Given the description of an element on the screen output the (x, y) to click on. 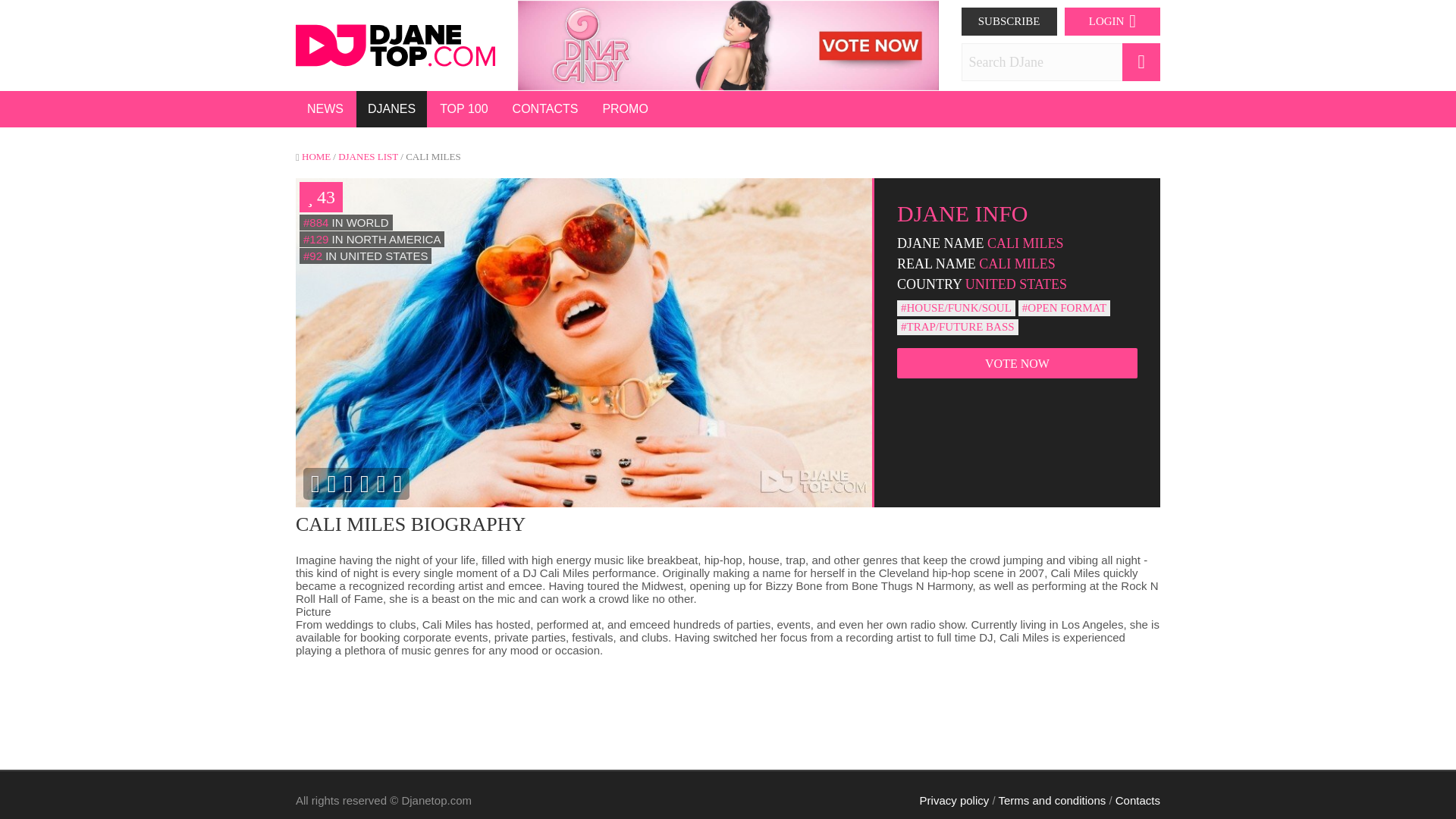
NEWS (325, 108)
Login (1112, 21)
PROMO (625, 108)
LOGIN (1112, 21)
TOP 100 (463, 108)
News (325, 108)
Login (1008, 21)
Vote NOW ENA (307, 45)
SUBSCRIBE (1008, 21)
DjaneTop (395, 43)
HOME (315, 156)
DJANES LIST (367, 156)
DJANES (391, 108)
DJanes (391, 108)
CONTACTS (544, 108)
